Given the description of an element on the screen output the (x, y) to click on. 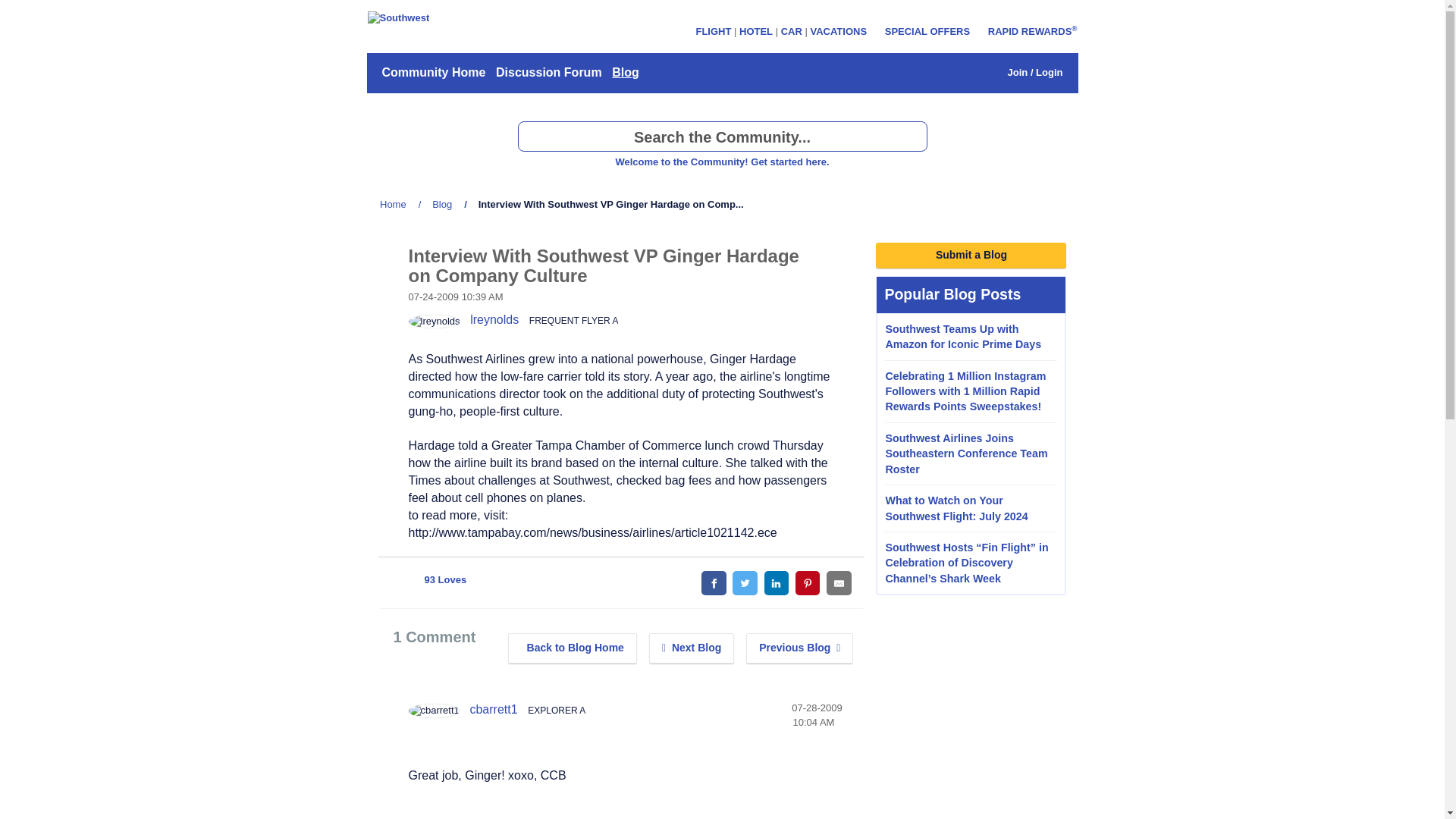
Next Blog (691, 648)
lreynolds (433, 321)
Click here to see who gave loves to this post. (442, 815)
Welcome to the Community! Get started here. (721, 161)
Search (911, 136)
cbarrett1 (492, 708)
Home (393, 204)
lreynolds (494, 318)
Posted on (817, 714)
FLIGHT (712, 30)
Discussion Forum (548, 73)
Blog (572, 648)
CAR (791, 30)
Search (721, 136)
Blog (442, 204)
